Given the description of an element on the screen output the (x, y) to click on. 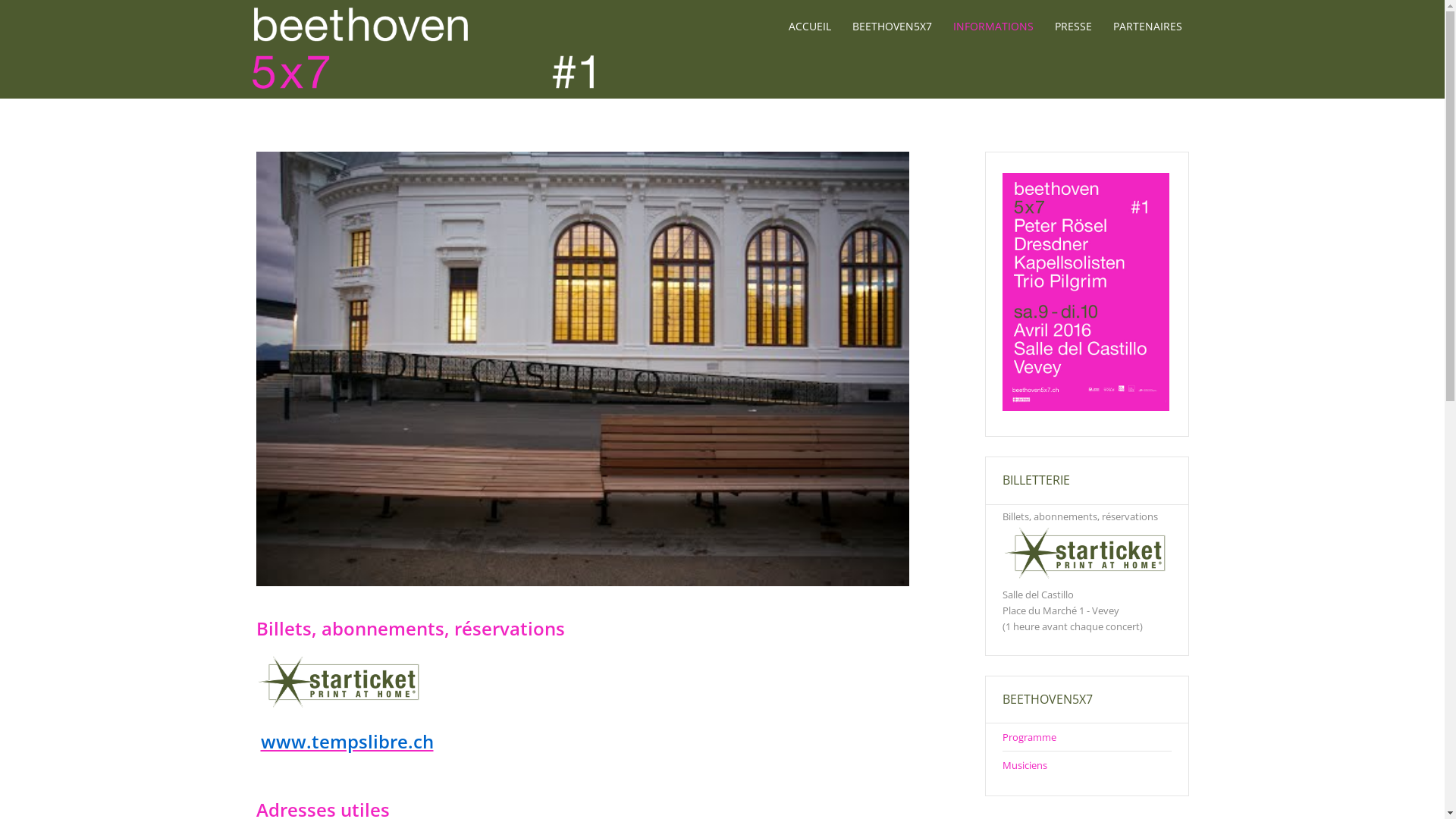
www.tempslibre.ch Element type: text (346, 740)
INFORMATIONS Element type: text (992, 26)
ACCUEIL Element type: text (809, 26)
PARTENAIRES Element type: text (1147, 26)
PRESSE Element type: text (1072, 26)
Musiciens Element type: text (1024, 764)
Programme Element type: text (1029, 736)
BEETHOVEN5X7 Element type: text (891, 26)
